Given the description of an element on the screen output the (x, y) to click on. 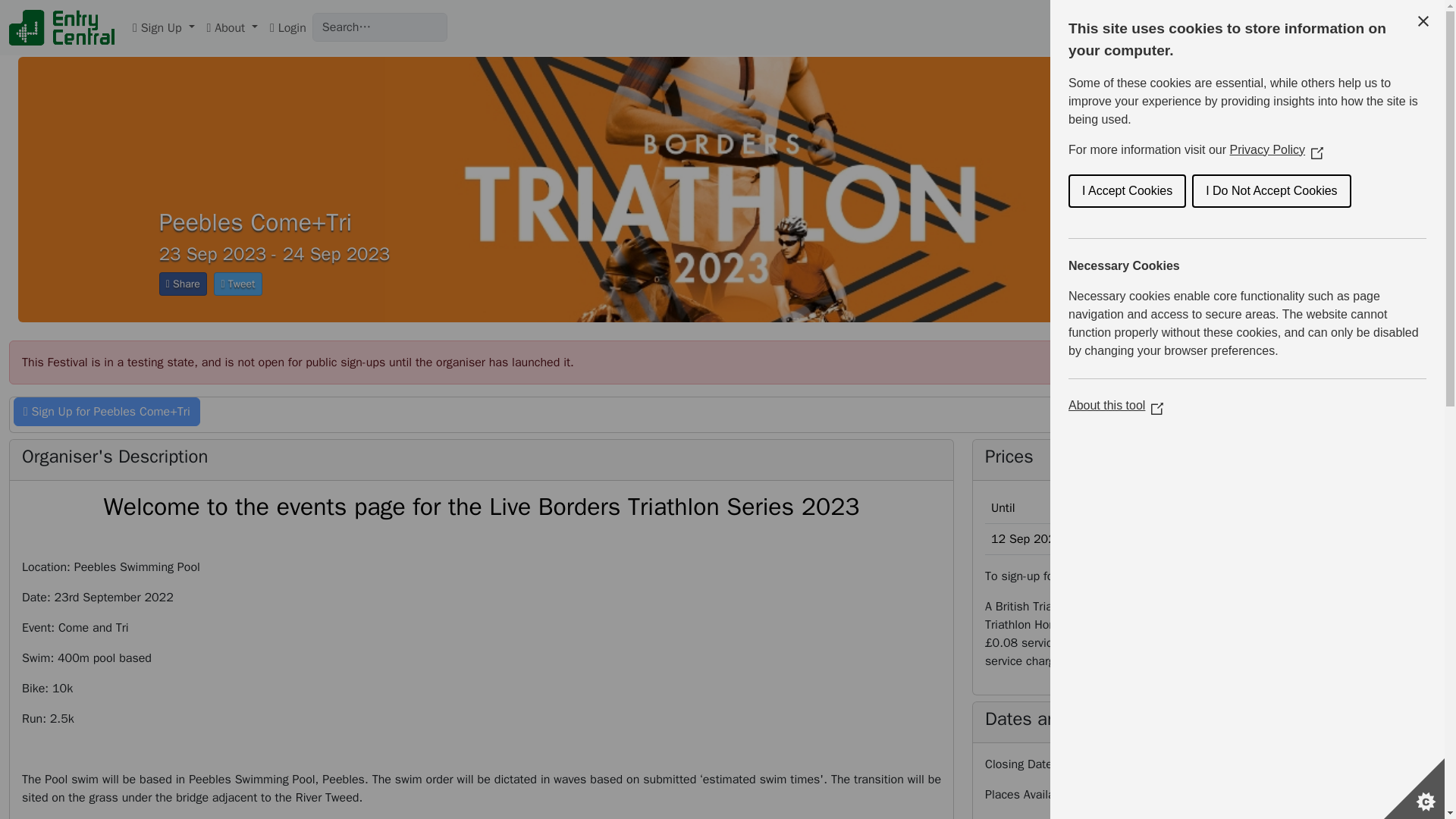
Login (288, 27)
Tweet (238, 283)
Share (182, 283)
Sign Up (163, 27)
About (231, 27)
